Given the description of an element on the screen output the (x, y) to click on. 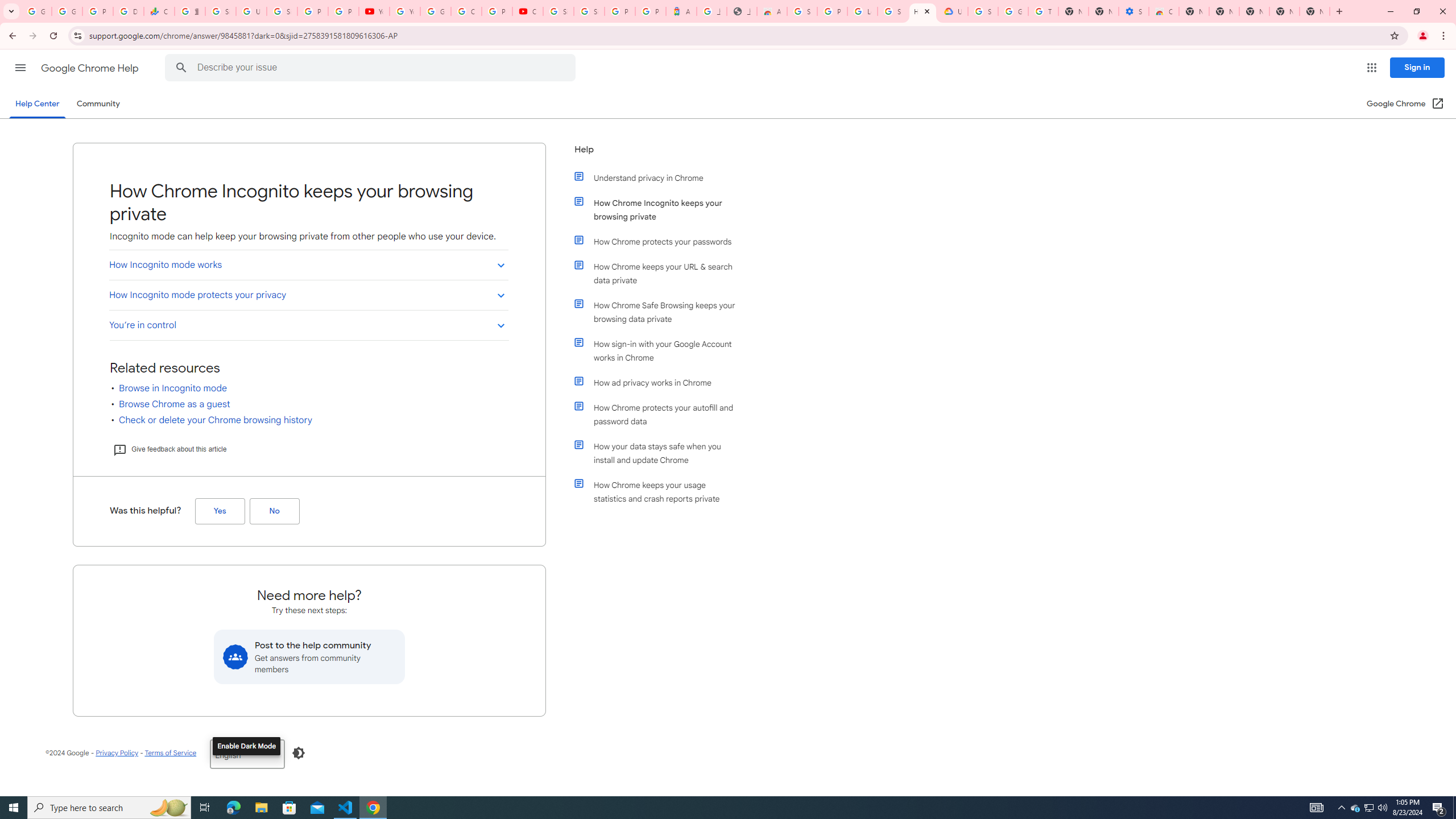
How Chrome keeps your URL & search data private (661, 273)
Currencies - Google Finance (158, 11)
Sign in - Google Accounts (589, 11)
Community (97, 103)
How Chrome Incognito keeps your browsing private (661, 209)
How your data stays safe when you install and update Chrome (661, 453)
How Chrome protects your passwords (661, 241)
Content Creator Programs & Opportunities - YouTube Creators (527, 11)
Main menu (20, 67)
How ad privacy works in Chrome (661, 382)
